Given the description of an element on the screen output the (x, y) to click on. 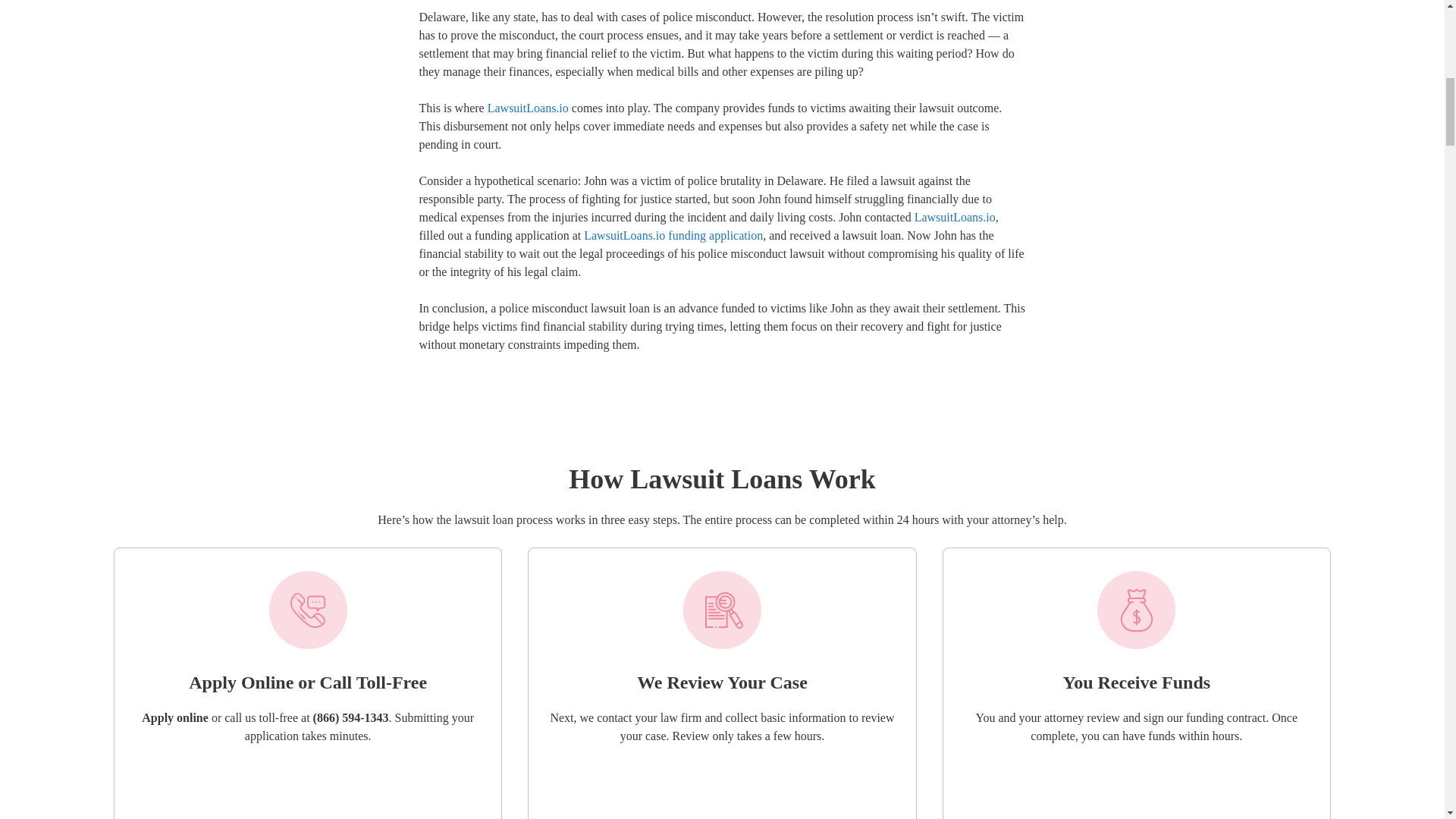
Scroll back to top (1406, 720)
LawsuitLoans.io (528, 107)
LawsuitLoans.io (954, 216)
Money Bag Icon (1135, 609)
Review Icon (721, 609)
Telephone Icon (308, 609)
LawsuitLoans.io funding application (672, 235)
